Given the description of an element on the screen output the (x, y) to click on. 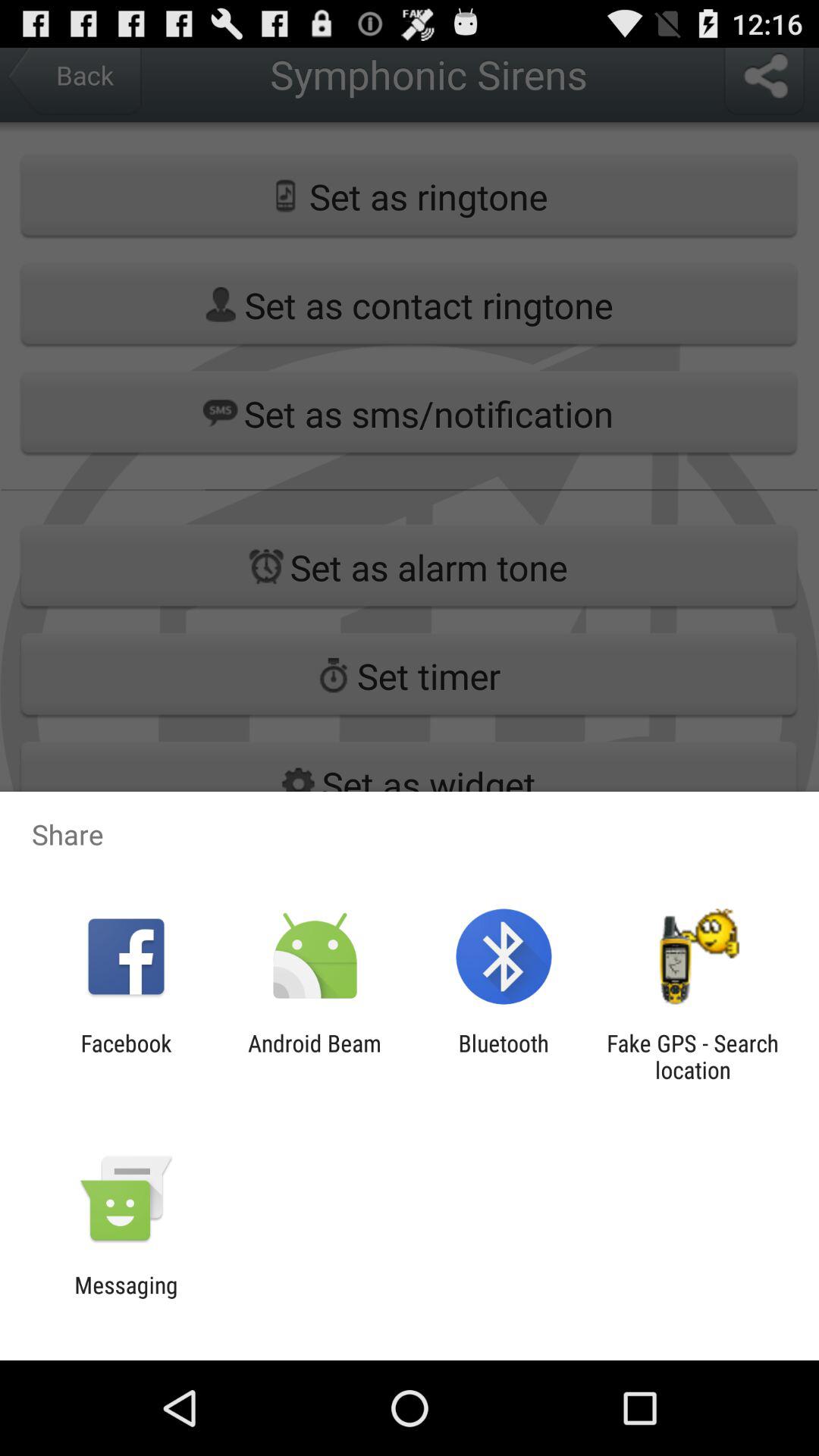
choose the item to the right of facebook (314, 1056)
